Given the description of an element on the screen output the (x, y) to click on. 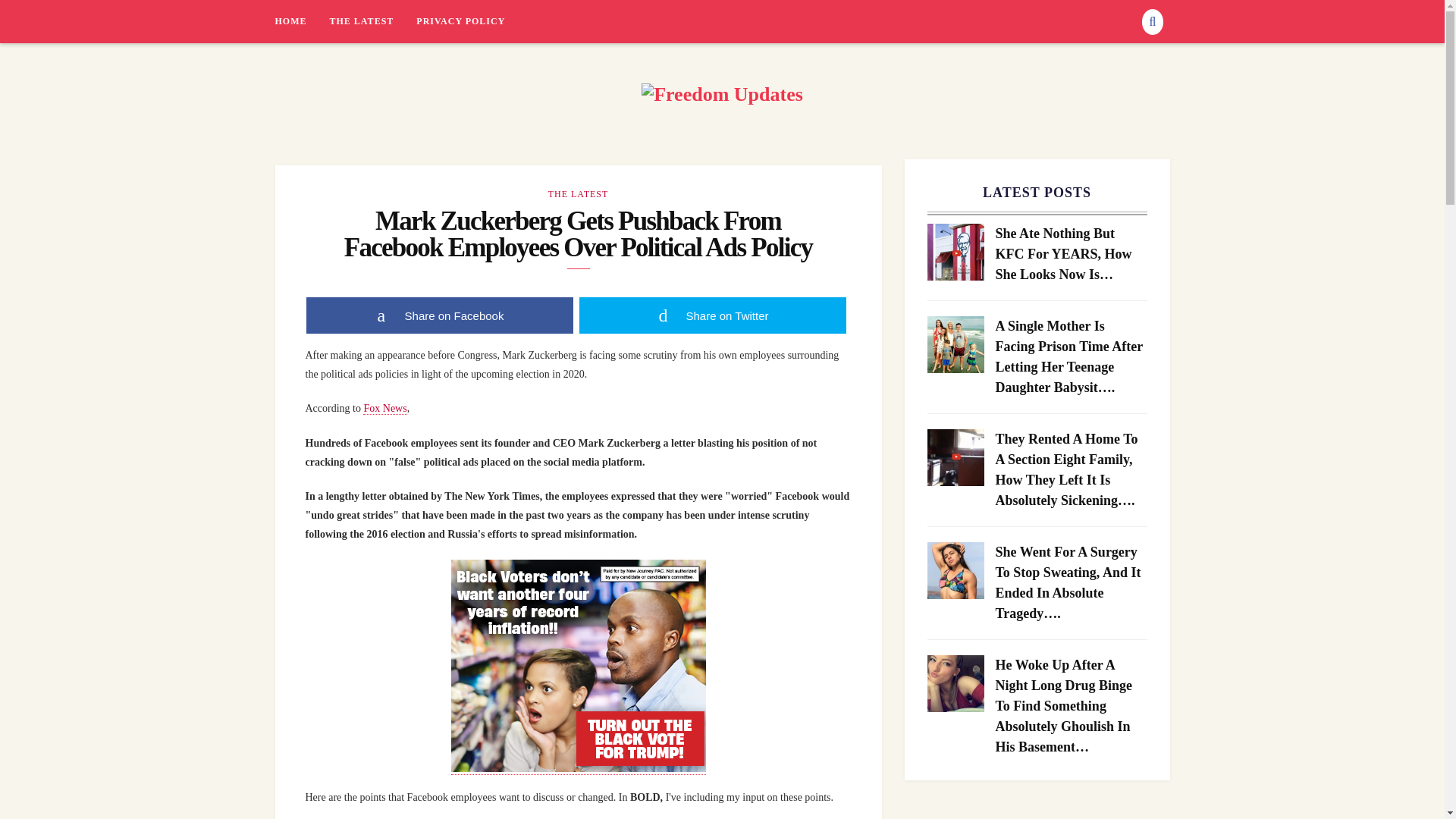
Share on Twitter (713, 315)
THE LATEST (578, 194)
FREEDOM UPDATES (378, 136)
PRIVACY POLICY (460, 21)
Fox News (384, 408)
Share on Facebook (439, 315)
THE LATEST (372, 21)
HOME (302, 21)
